Given the description of an element on the screen output the (x, y) to click on. 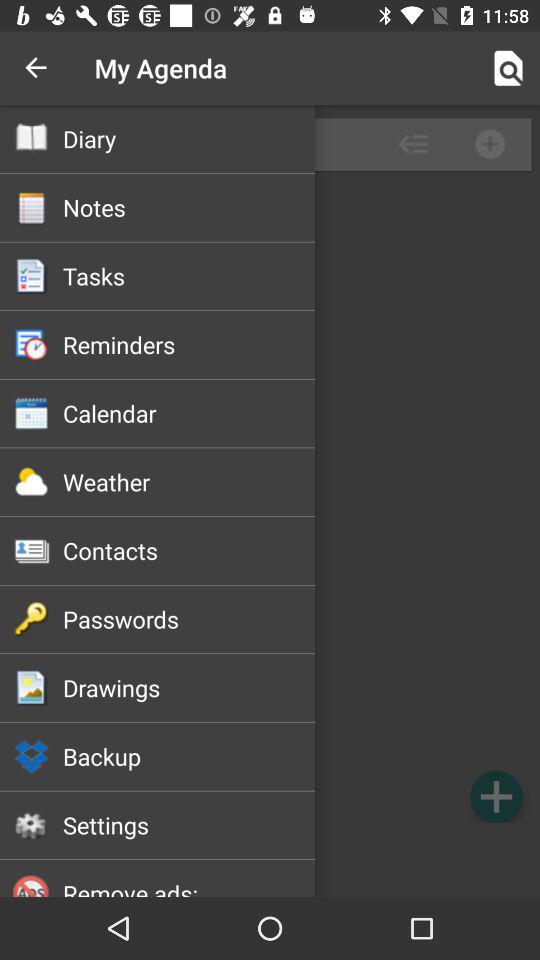
add to agenda (496, 796)
